Given the description of an element on the screen output the (x, y) to click on. 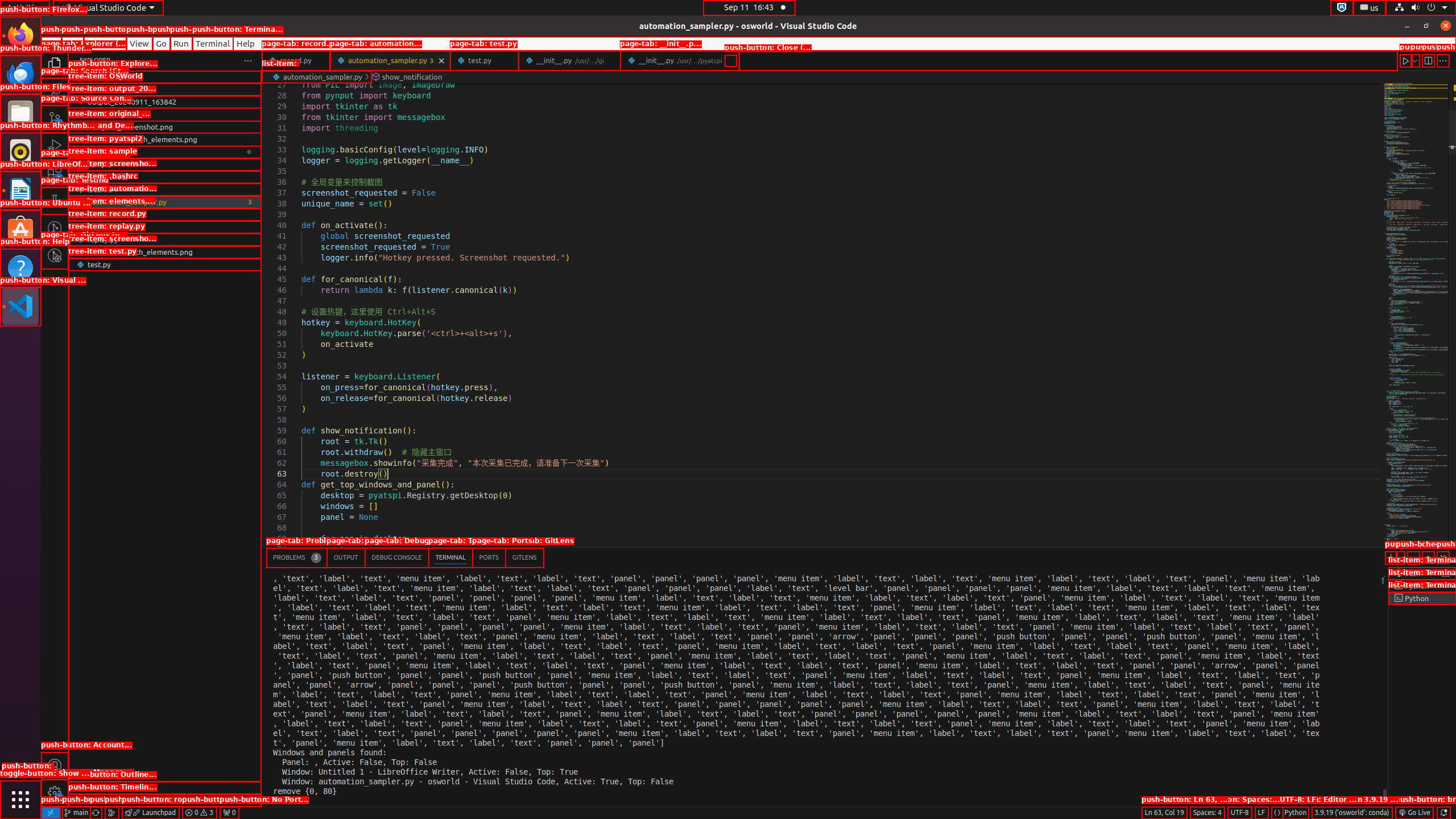
File Element type: push-button (50, 43)
test.py Element type: page-tab (483, 60)
GitLens Inspect Element type: page-tab (54, 255)
Hide Panel Element type: push-button (1442, 557)
